Given the description of an element on the screen output the (x, y) to click on. 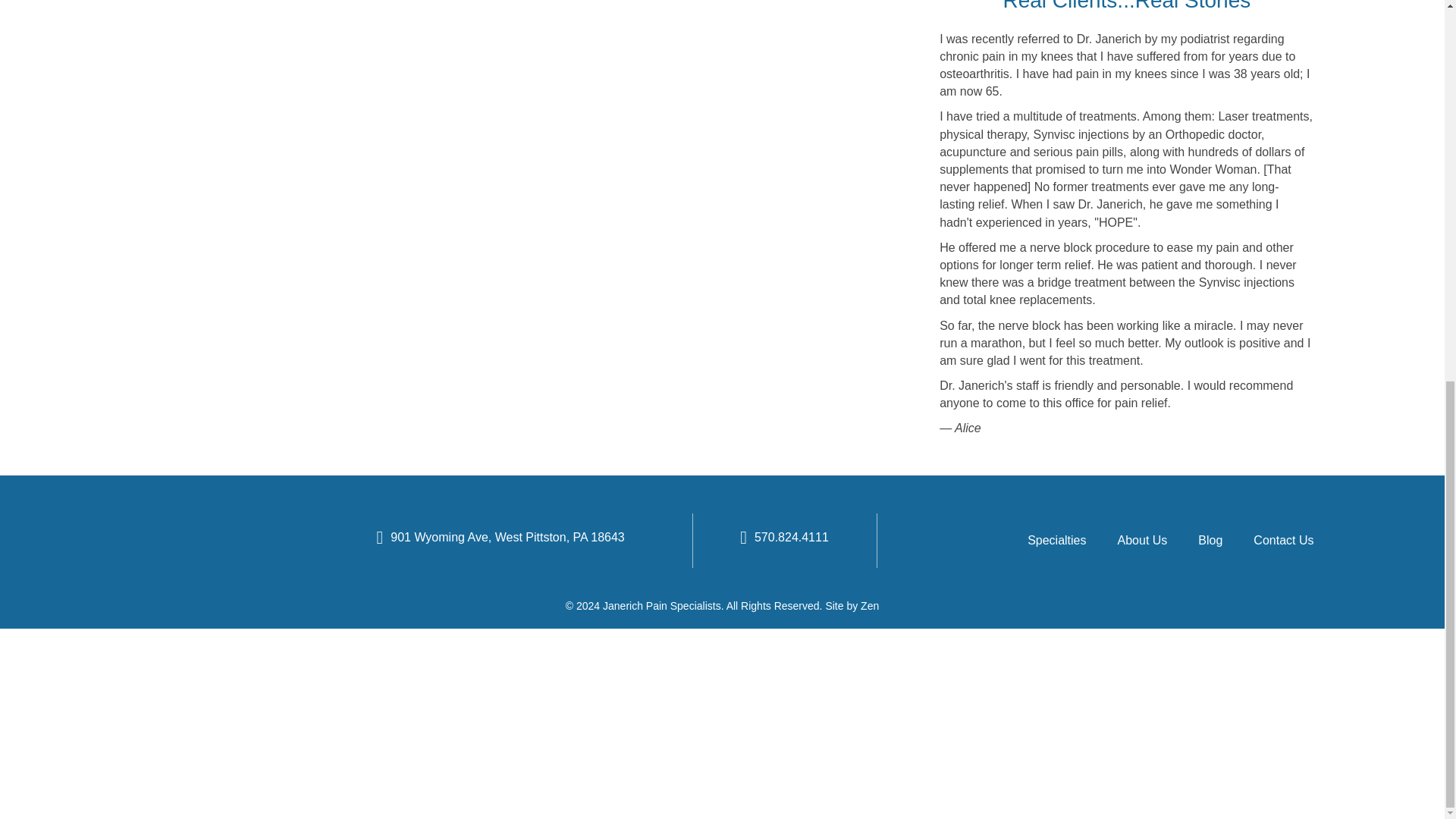
logo-janerich-pain-specialists-white (190, 540)
